Given the description of an element on the screen output the (x, y) to click on. 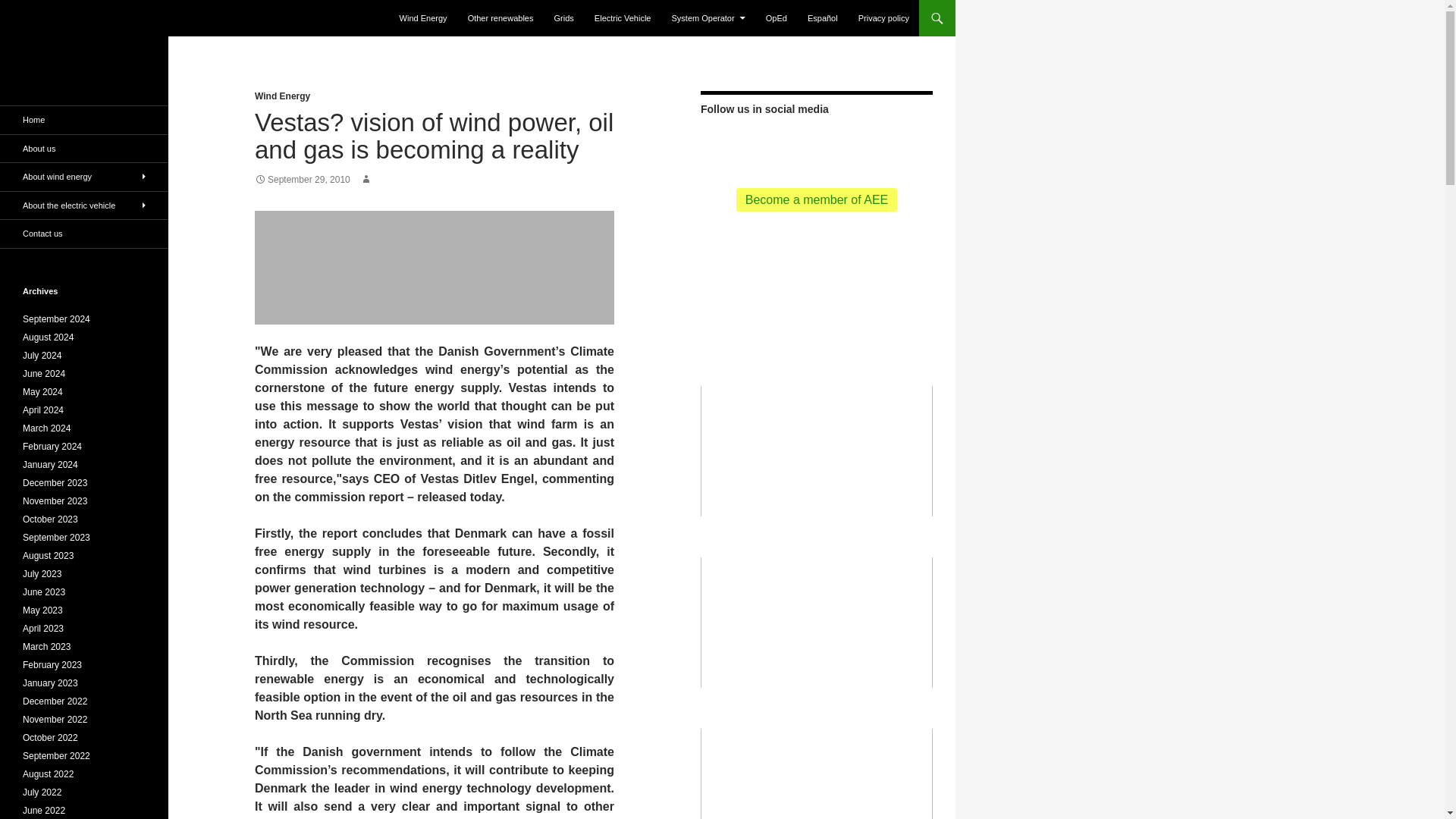
twitter (743, 143)
Other renewables (500, 18)
flickr (816, 143)
RSS (719, 143)
Grids (563, 18)
System Operator (708, 18)
youtube (792, 143)
September 29, 2010 (302, 179)
Electric Vehicle (623, 18)
Privacy policy (883, 18)
